Given the description of an element on the screen output the (x, y) to click on. 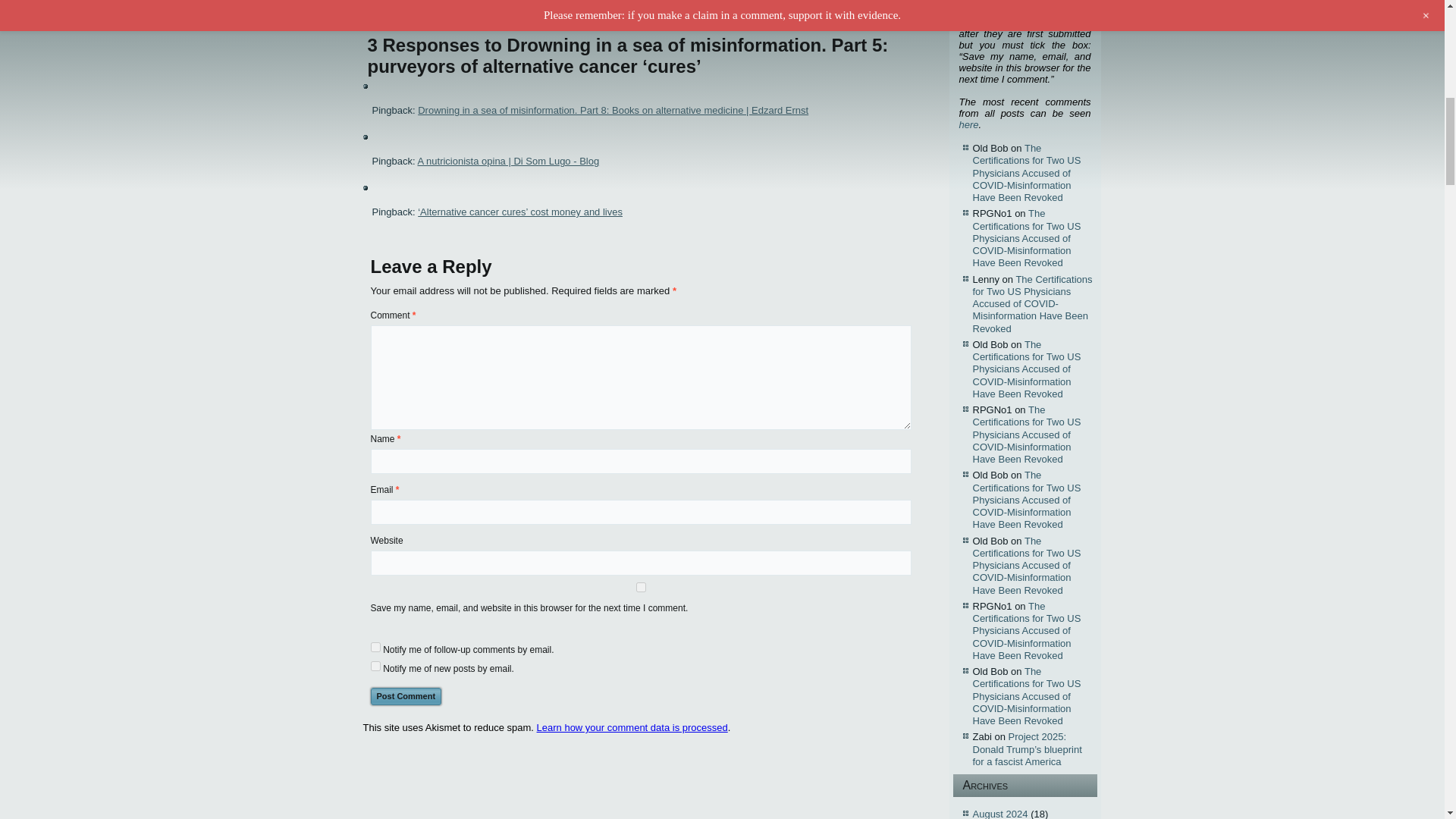
Post Comment (405, 696)
Post Comment (405, 696)
bogus claims (408, 4)
yes (640, 587)
misleading consumers (505, 4)
subscribe (374, 646)
bias (371, 4)
Learn how your comment data is processed (632, 727)
subscribe (374, 665)
ethics (449, 4)
